Given the description of an element on the screen output the (x, y) to click on. 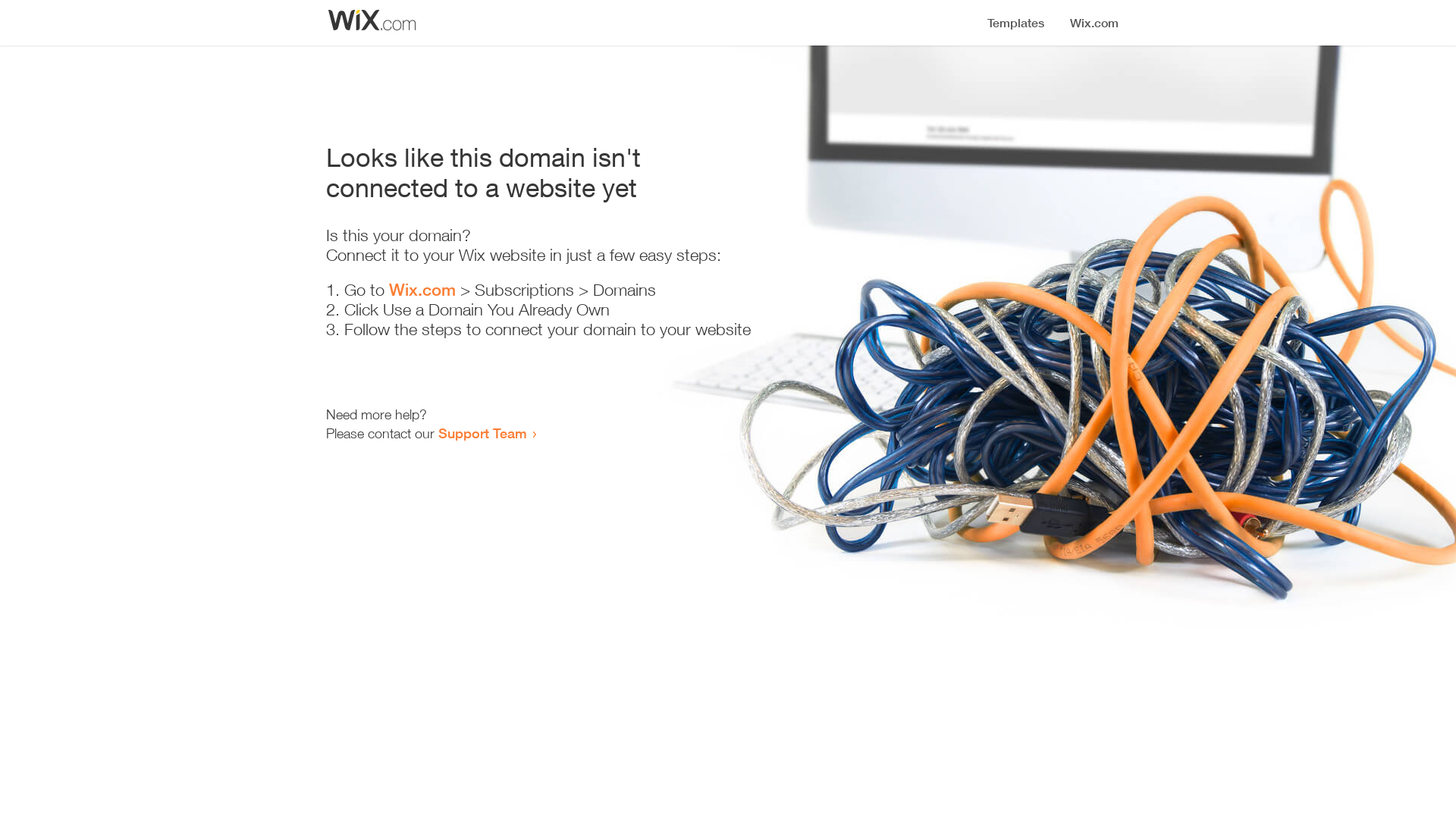
Wix.com Element type: text (422, 289)
Support Team Element type: text (482, 432)
